Given the description of an element on the screen output the (x, y) to click on. 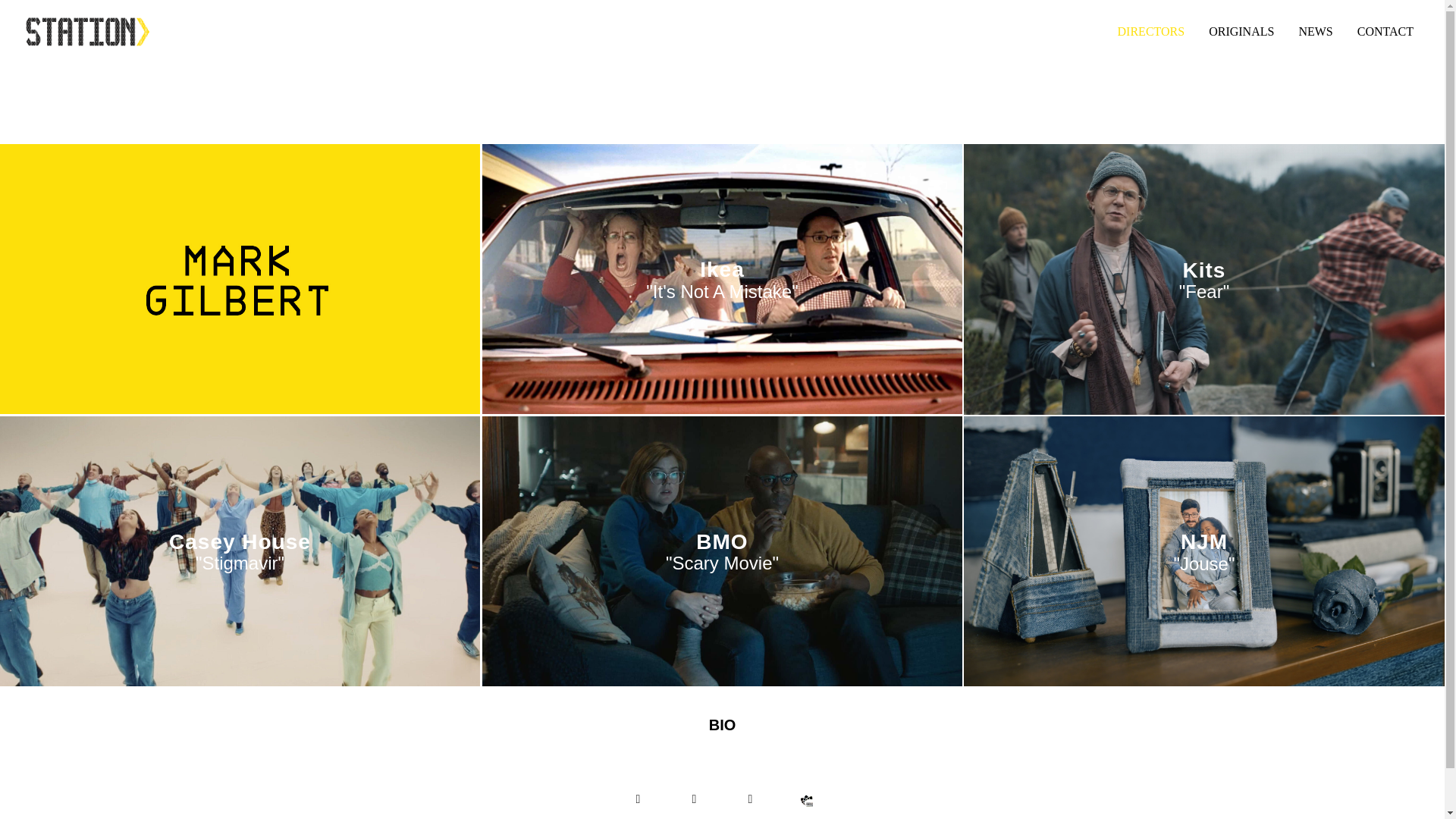
DIRECTORS (1150, 31)
CONTACT (1385, 31)
NEWS (1314, 31)
ORIGINALS (1240, 31)
